Given the description of an element on the screen output the (x, y) to click on. 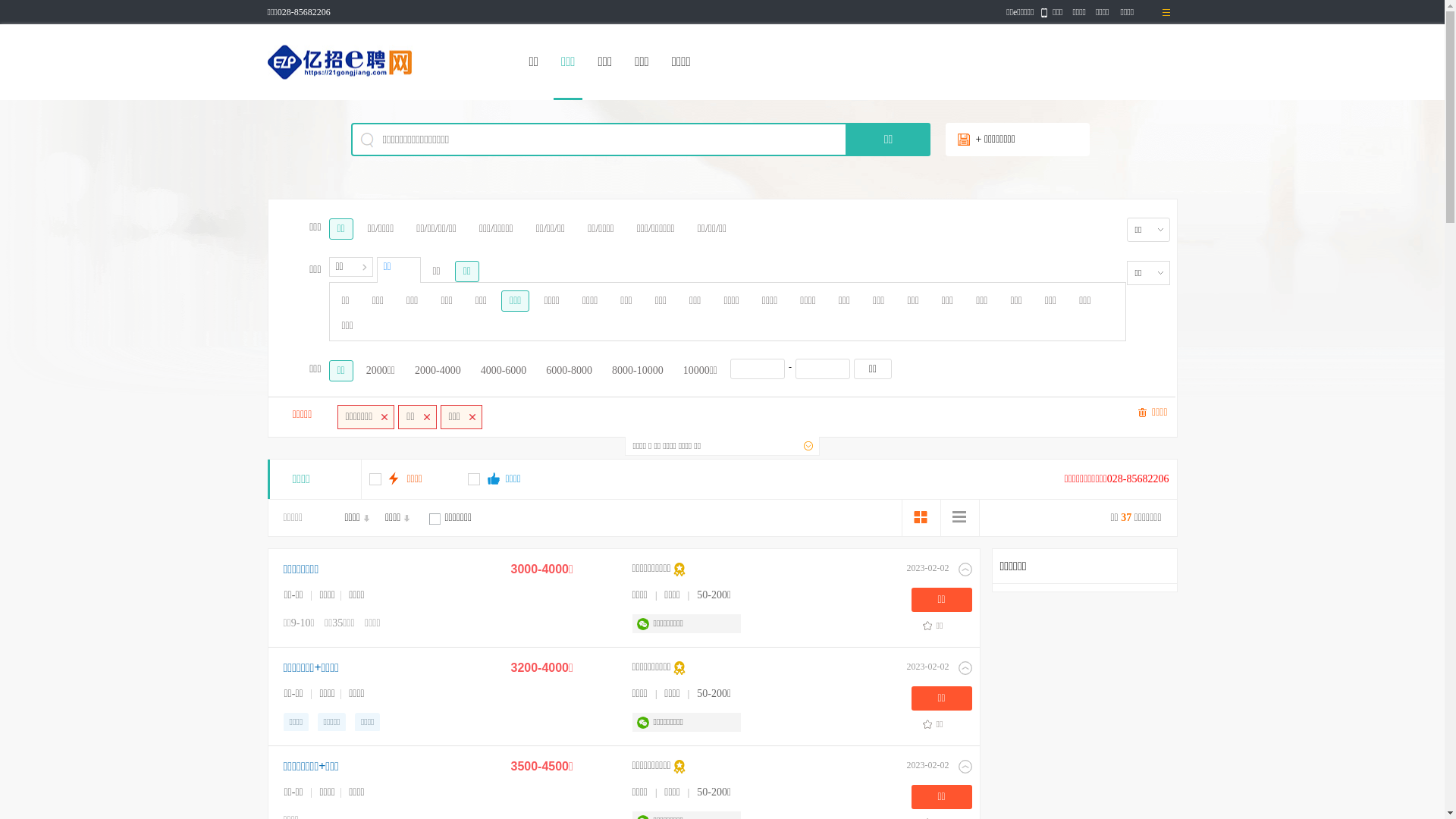
8000-10000 Element type: text (637, 370)
6000-8000 Element type: text (569, 370)
4000-6000 Element type: text (503, 370)
2000-4000 Element type: text (437, 370)
